Given the description of an element on the screen output the (x, y) to click on. 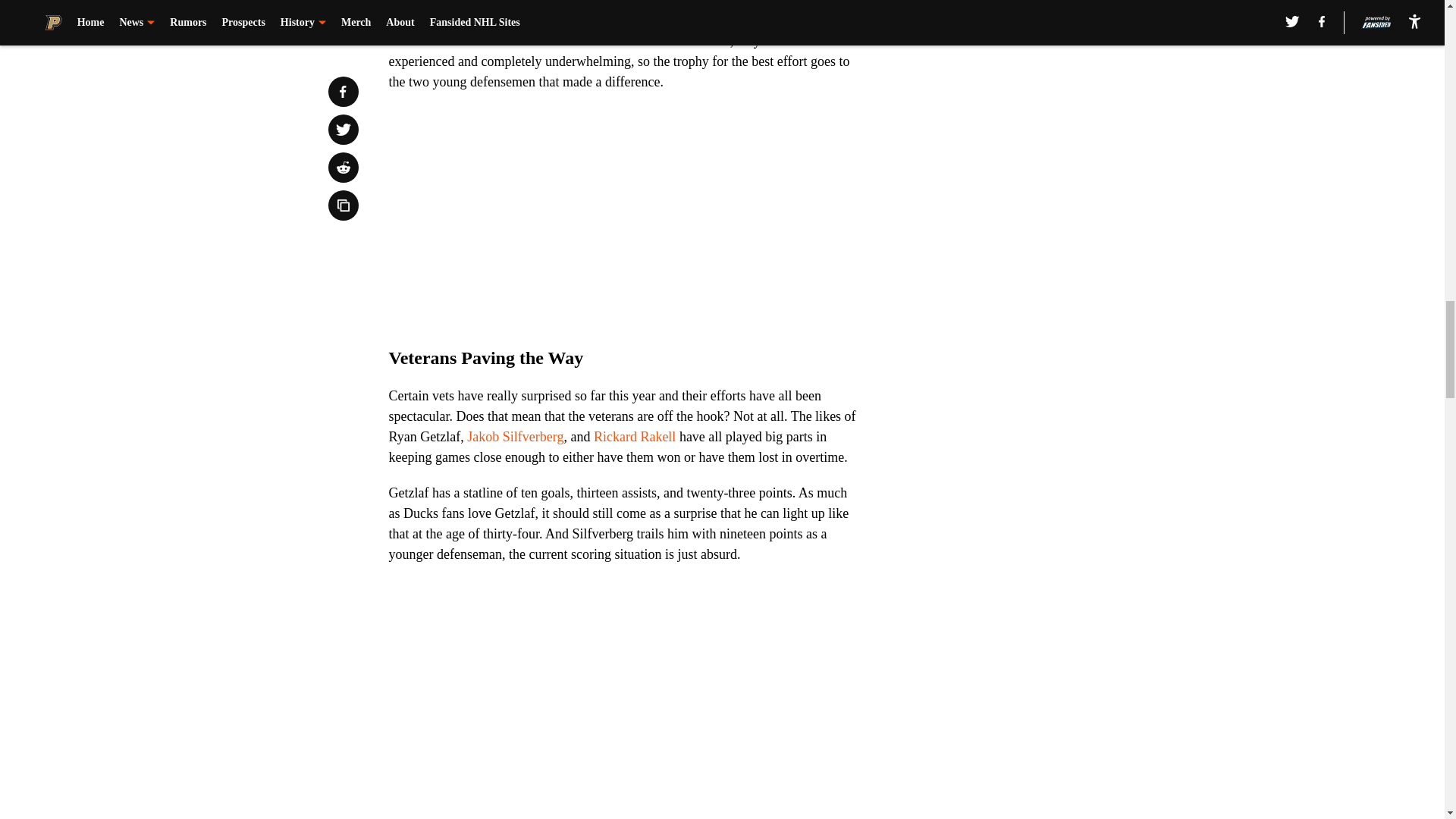
Josh Mahura (809, 3)
Jakob Silfverberg (515, 436)
Brendan Guhle (706, 3)
Rickard Rakell (634, 436)
